Given the description of an element on the screen output the (x, y) to click on. 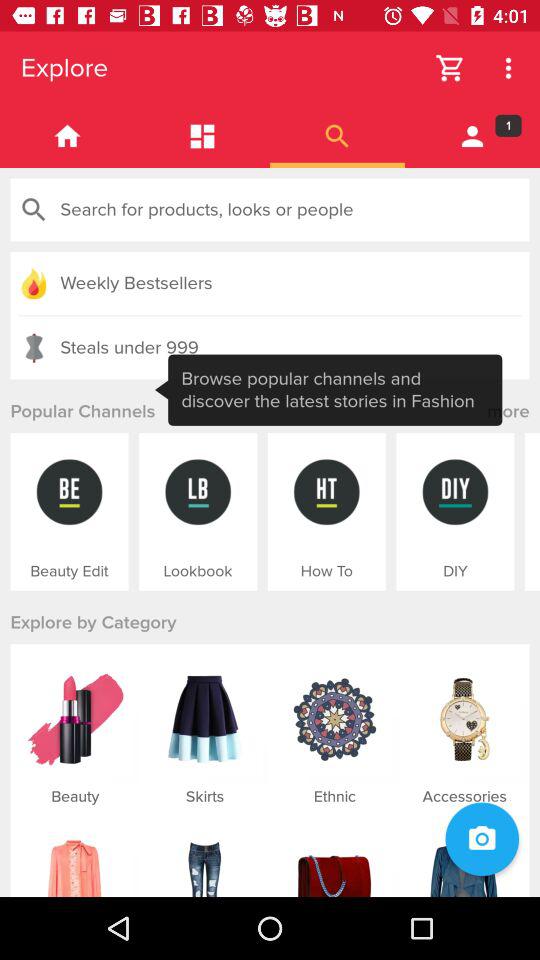
go to homepage (67, 136)
